Given the description of an element on the screen output the (x, y) to click on. 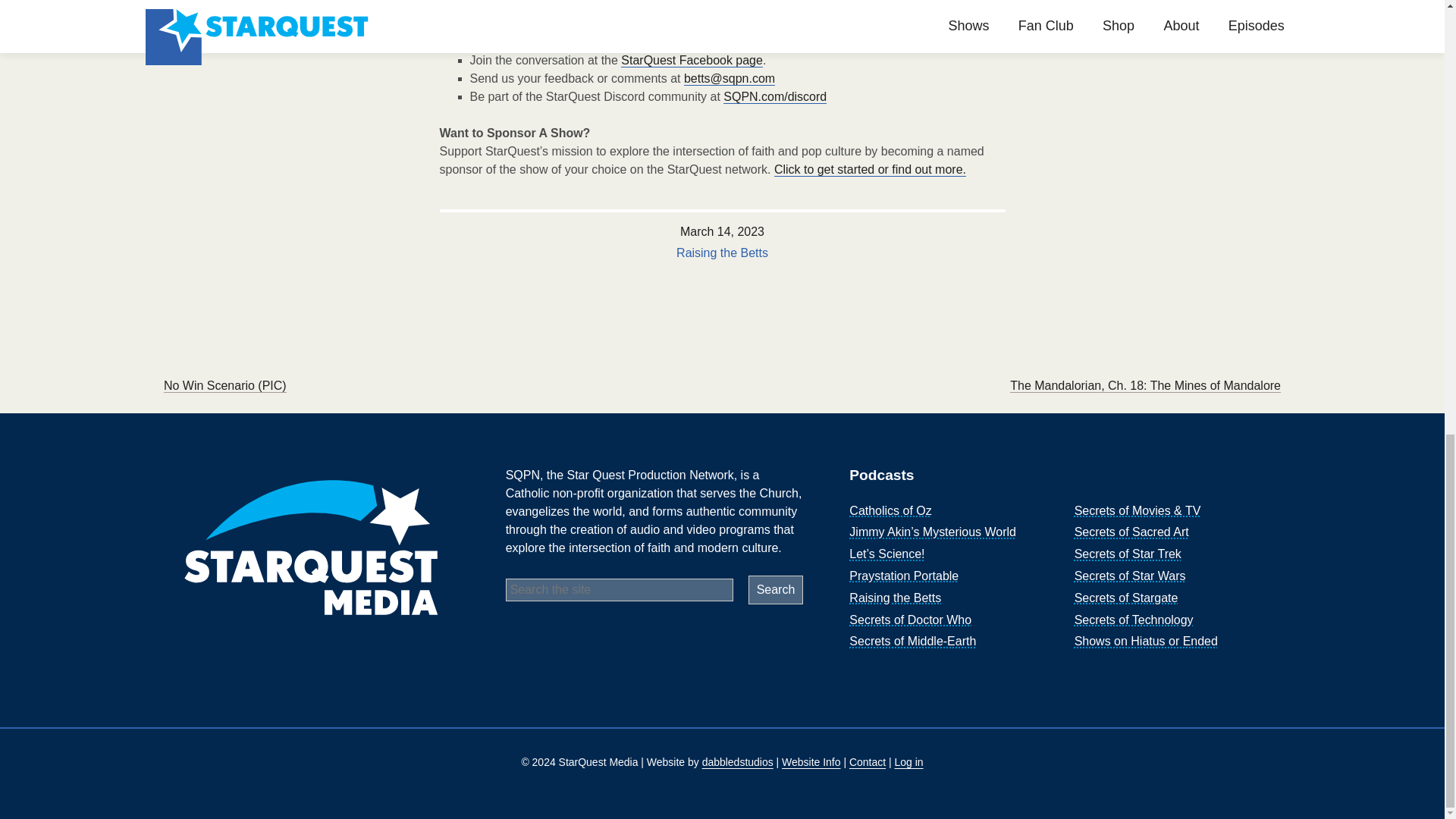
website information (810, 761)
contact (866, 761)
